Given the description of an element on the screen output the (x, y) to click on. 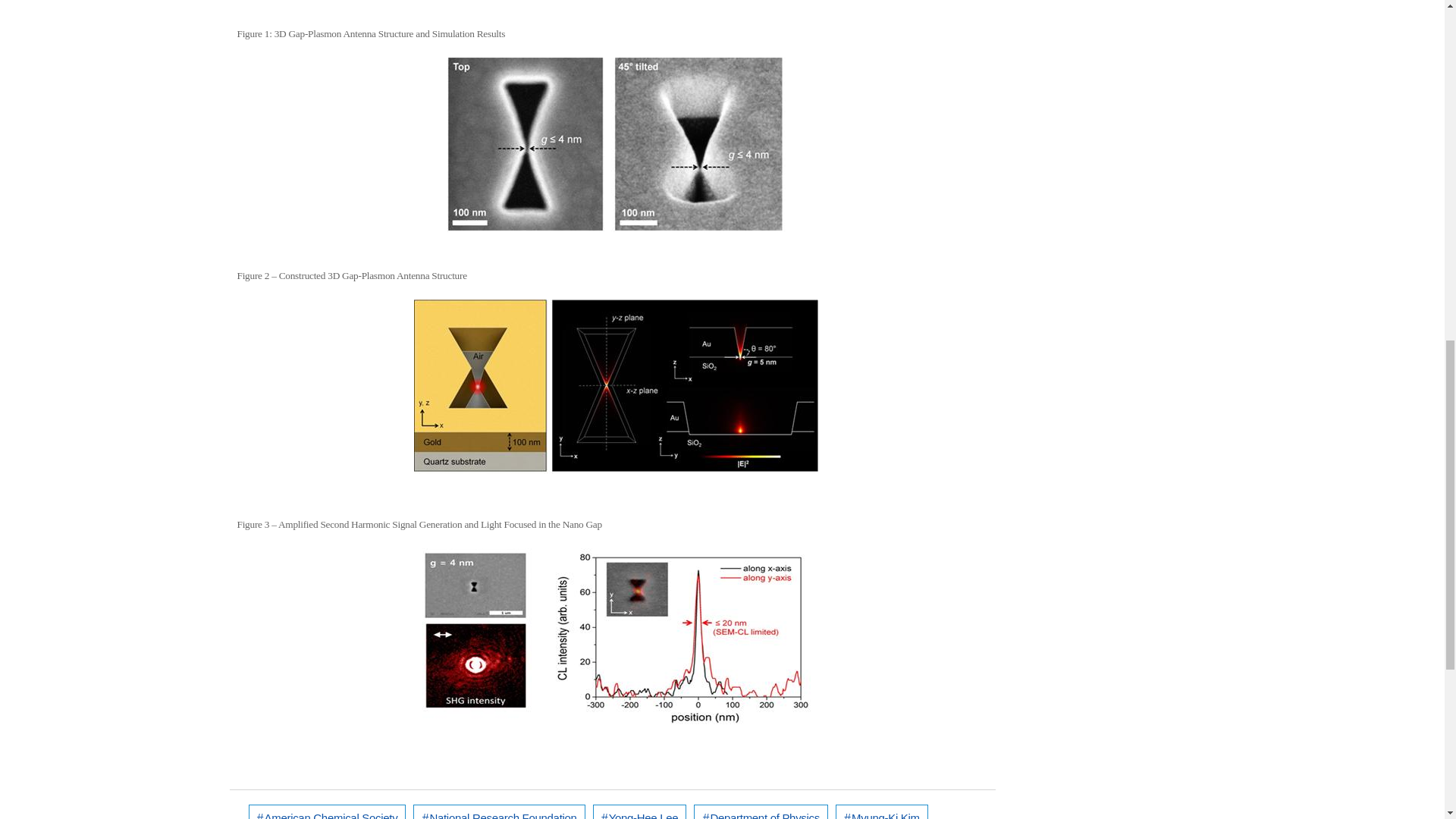
National Research Foundation (499, 811)
Department of Physics (761, 811)
Yong-Hee Lee (639, 811)
Myung-Ki Kim (881, 811)
American Chemical Society (327, 811)
